Given the description of an element on the screen output the (x, y) to click on. 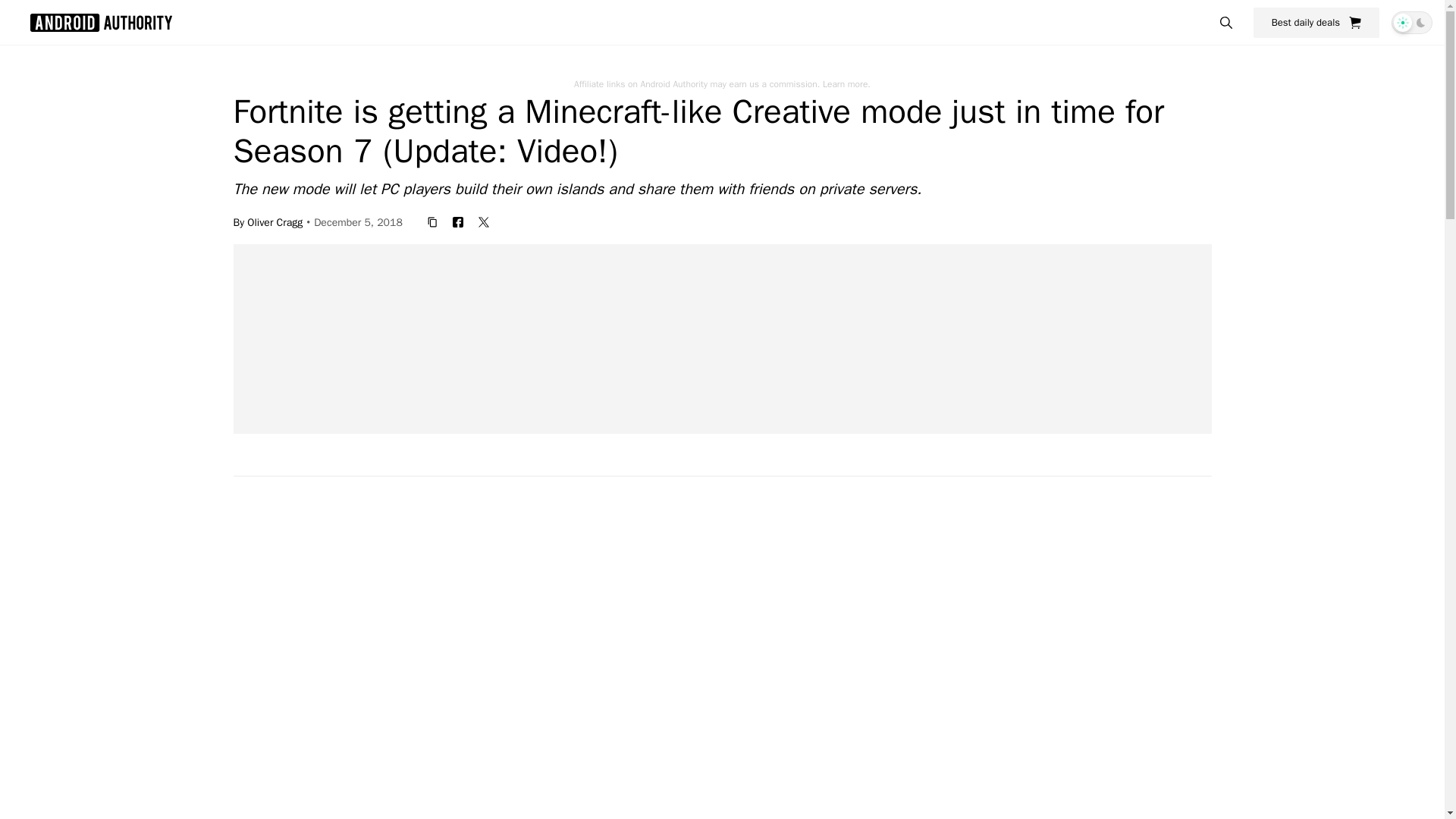
Oliver Cragg (274, 221)
facebook (457, 222)
Best daily deals (1315, 22)
twitter (483, 222)
Learn more. (846, 83)
